Given the description of an element on the screen output the (x, y) to click on. 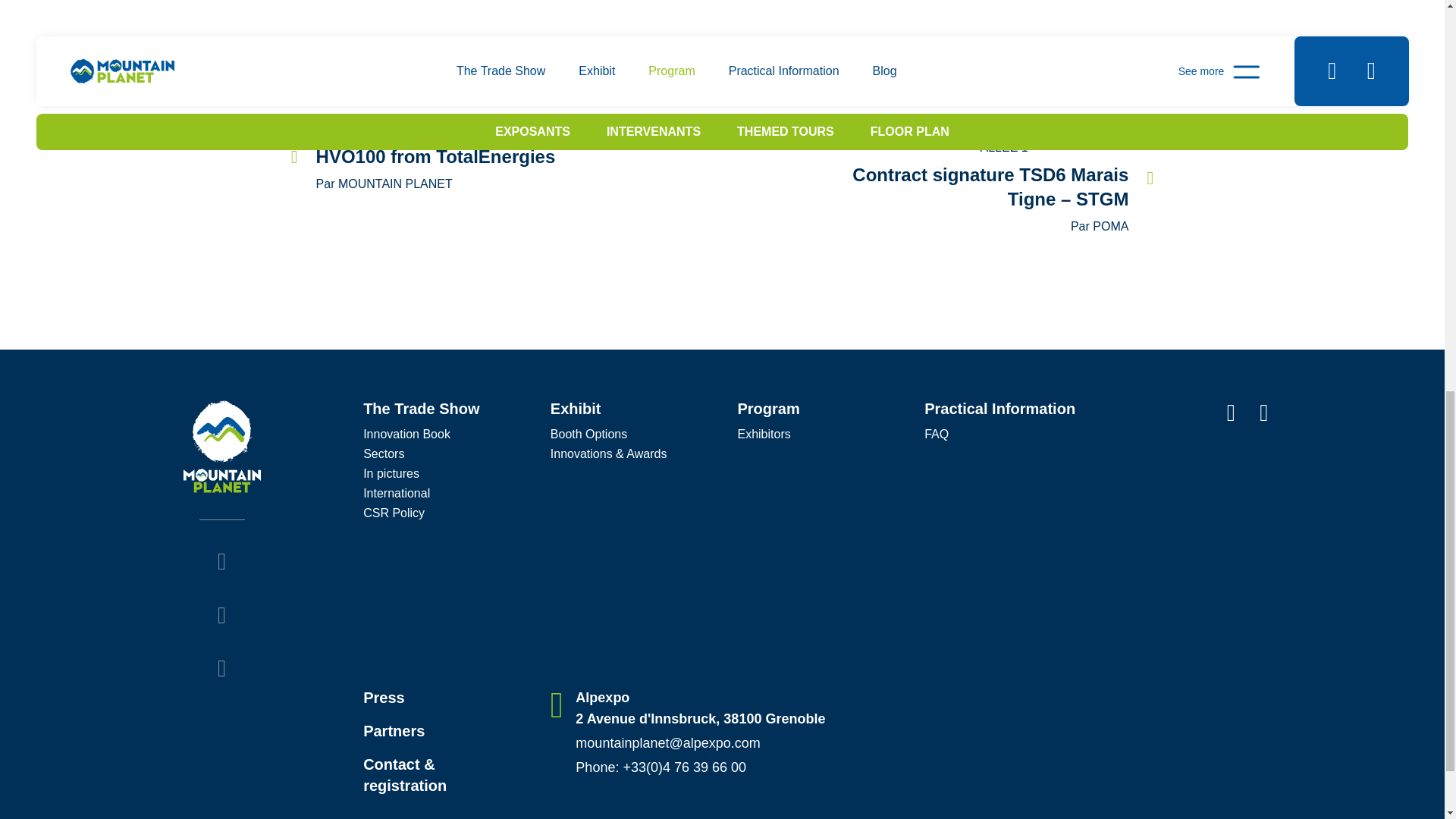
Youtube (220, 669)
Twitter (220, 561)
HVO100 from TotalEnergies (463, 157)
Linkedin (220, 615)
